Given the description of an element on the screen output the (x, y) to click on. 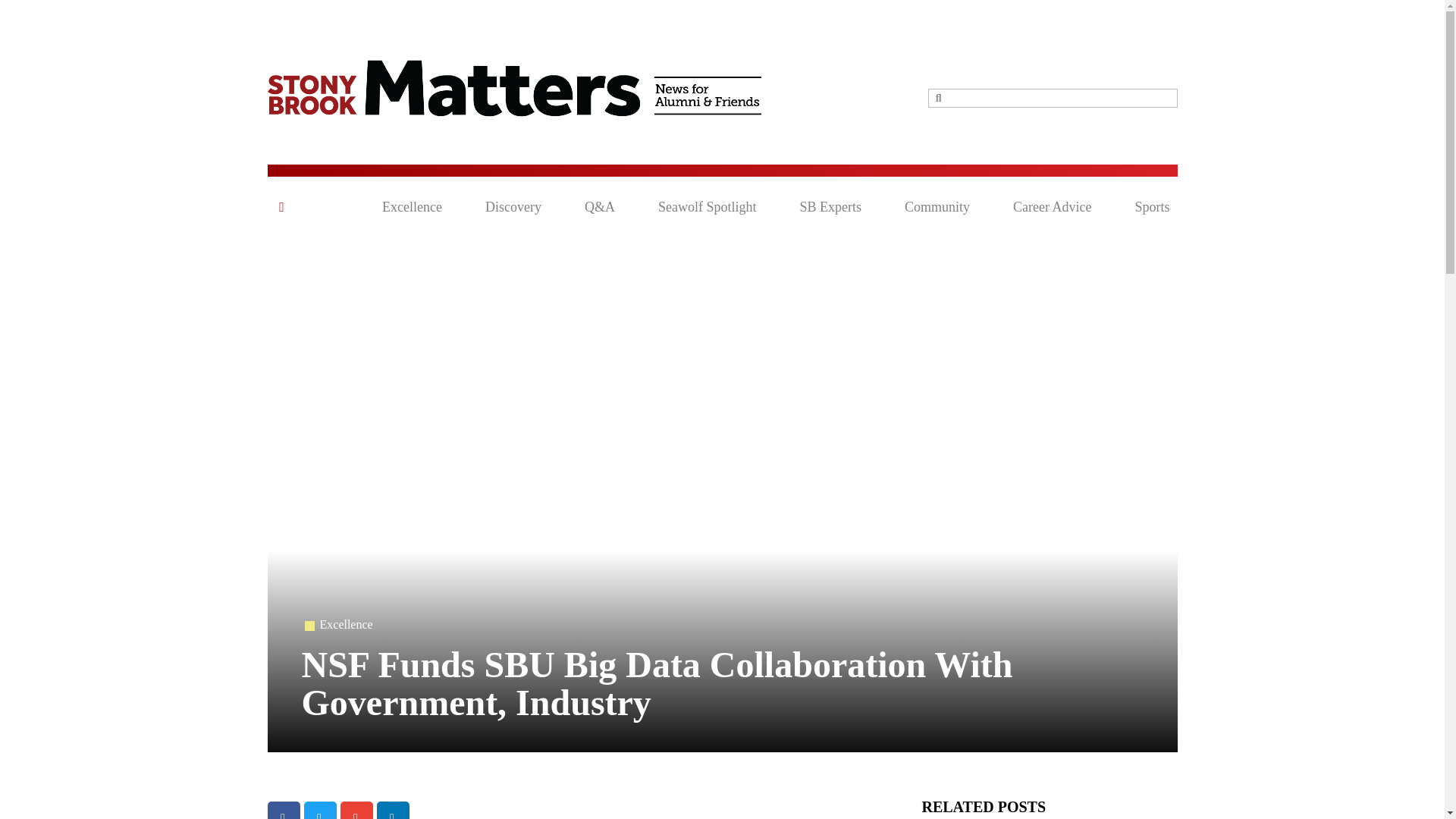
Community (936, 206)
Career Advice (1051, 206)
Sports (1151, 206)
Discovery (512, 206)
Seawolf Spotlight (707, 206)
SB Experts (830, 206)
Excellence (346, 624)
Excellence (411, 206)
